Given the description of an element on the screen output the (x, y) to click on. 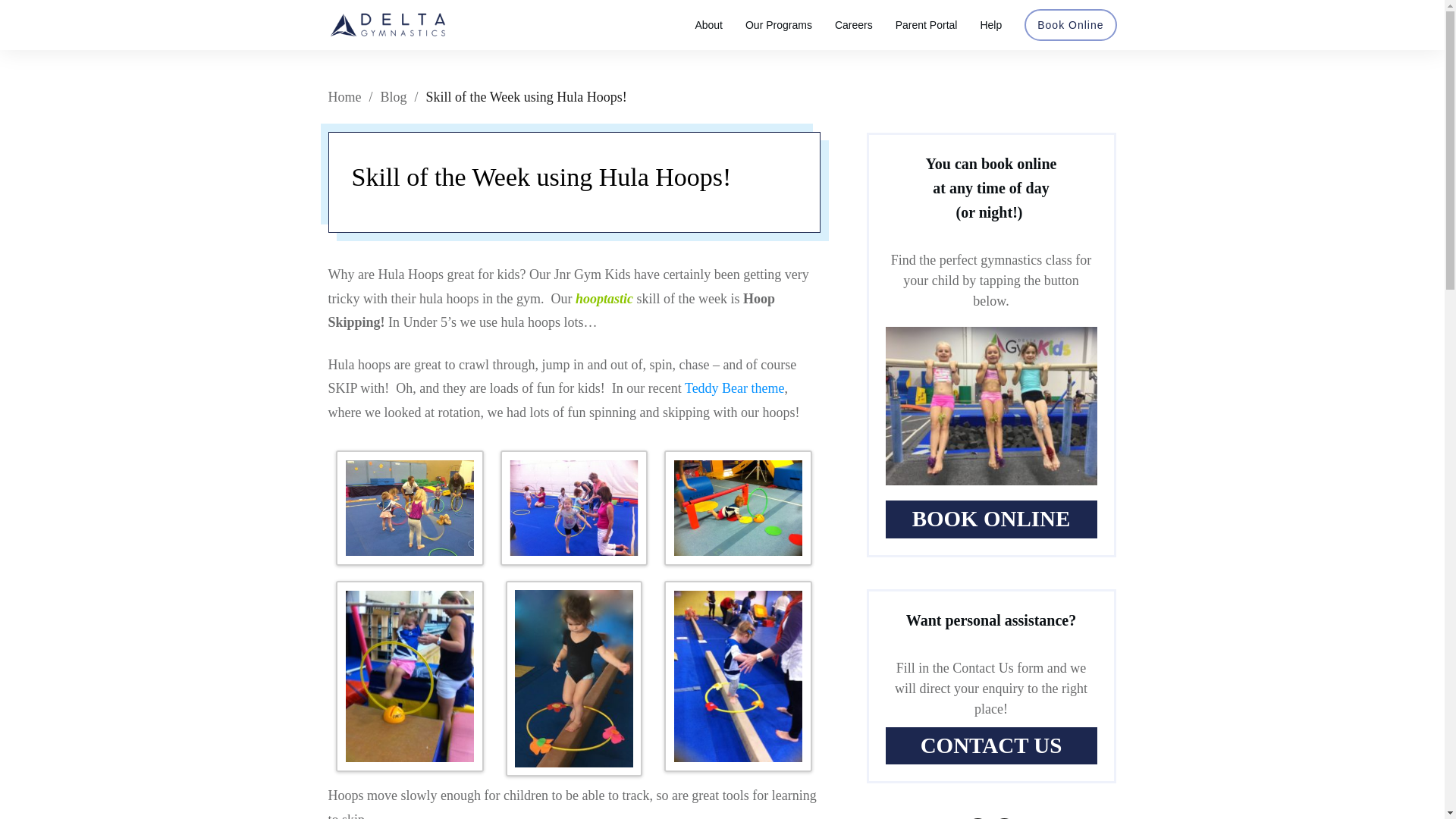
Parent Portal (926, 25)
Teddy Bear theme (734, 387)
Skill of the Week using Hula Hoops! (542, 176)
Home (344, 97)
CONTACT US (991, 745)
Book Online (1069, 25)
Skill of the Week using Hula Hoops! (542, 176)
Our Programs (778, 25)
BOOK ONLINE (991, 519)
Blog (393, 97)
Help (990, 25)
About (708, 25)
Careers (853, 25)
